Given the description of an element on the screen output the (x, y) to click on. 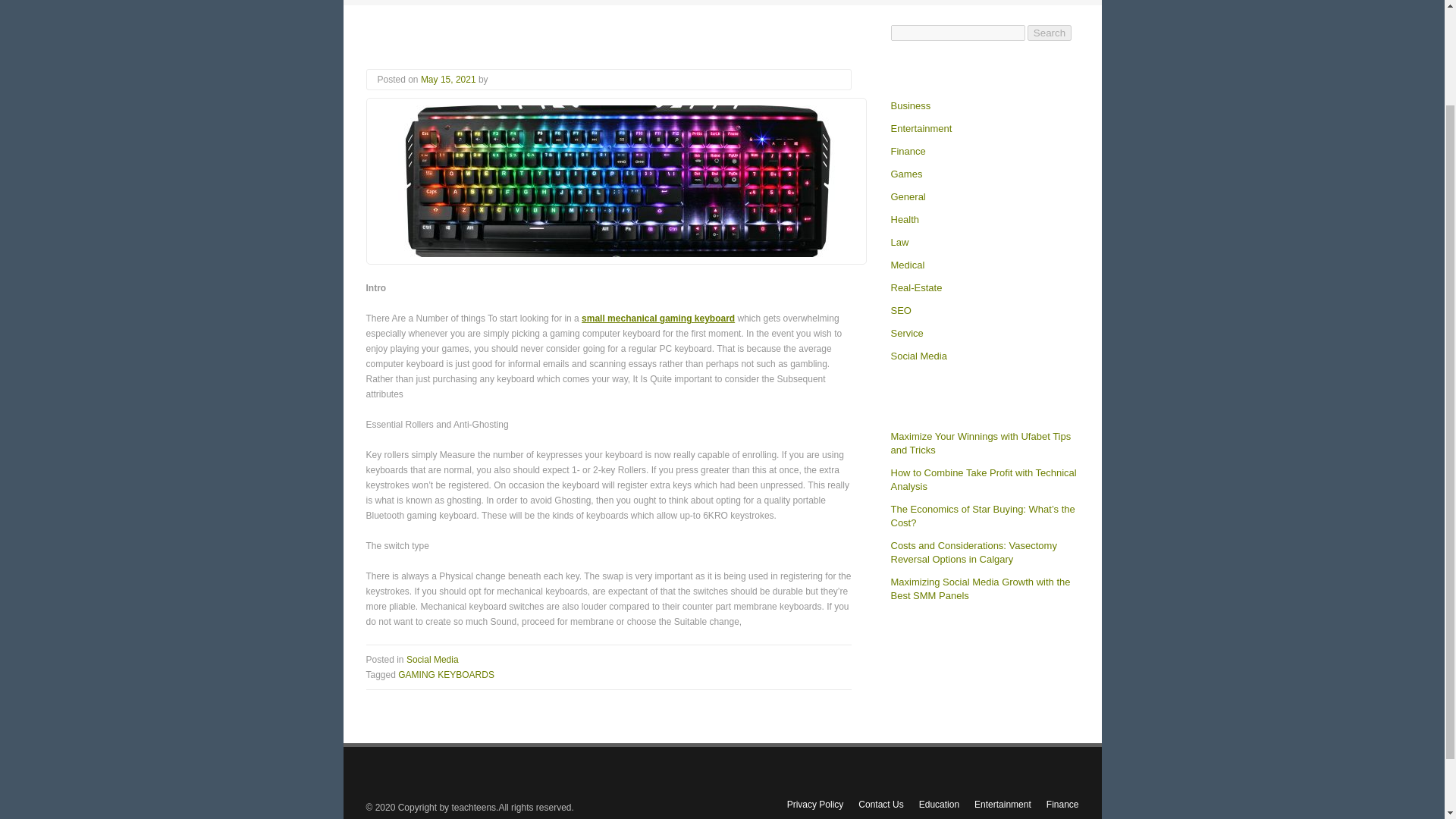
Real-Estate (915, 287)
Health (903, 219)
small mechanical gaming keyboard (657, 317)
Social Media (917, 356)
Search (1049, 32)
Maximize Your Winnings with Ufabet Tips and Tricks (979, 442)
Service (906, 333)
Contact Us (880, 804)
General (906, 196)
Business (909, 106)
